Given the description of an element on the screen output the (x, y) to click on. 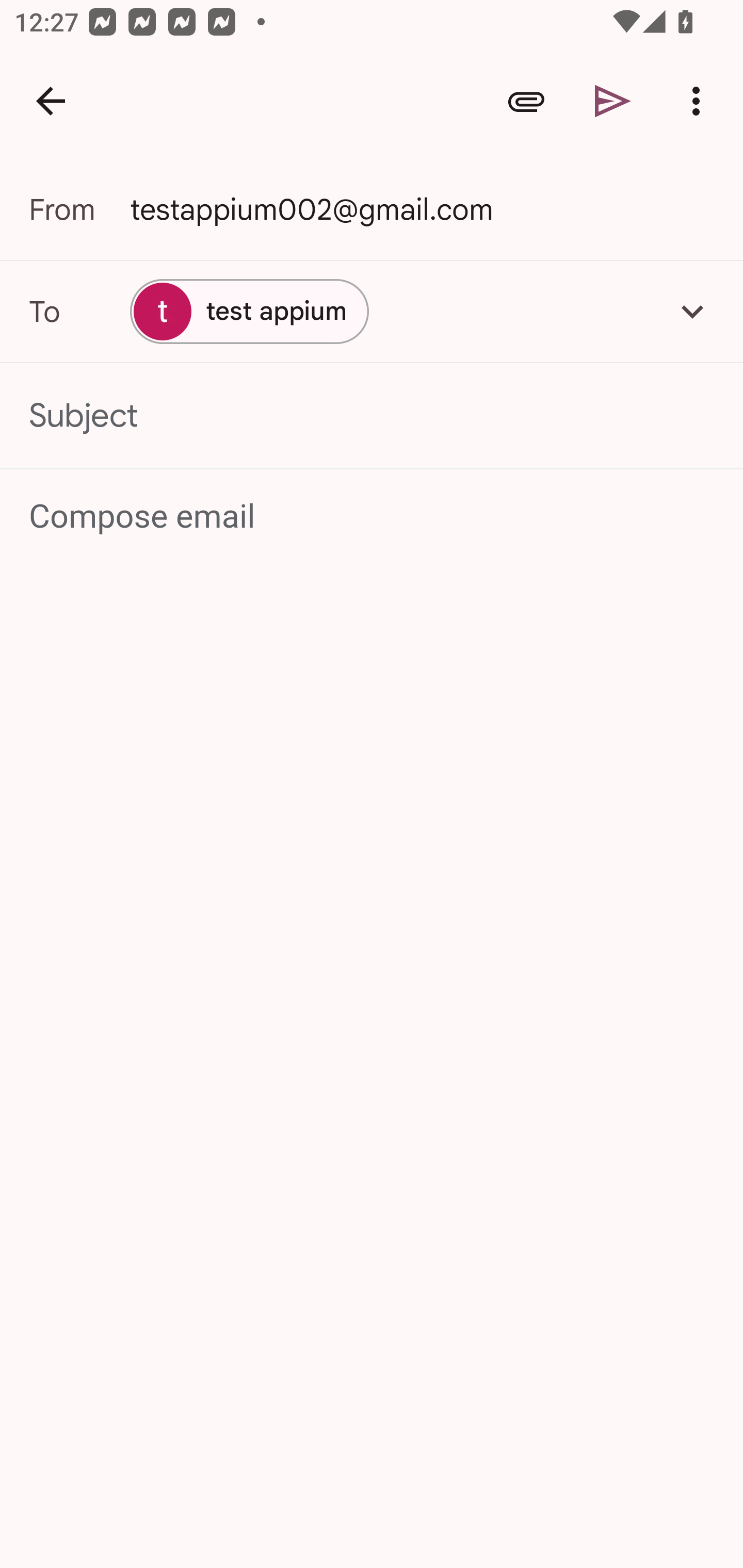
Navigate up (50, 101)
Attach file (525, 101)
Send (612, 101)
More options (699, 101)
From (79, 209)
Add Cc/Bcc (692, 311)
test appium test appium, testappium002@gmail.com (371, 311)
test appium test appium, testappium002@gmail.com (249, 311)
Subject (371, 415)
Compose email (372, 517)
